Given the description of an element on the screen output the (x, y) to click on. 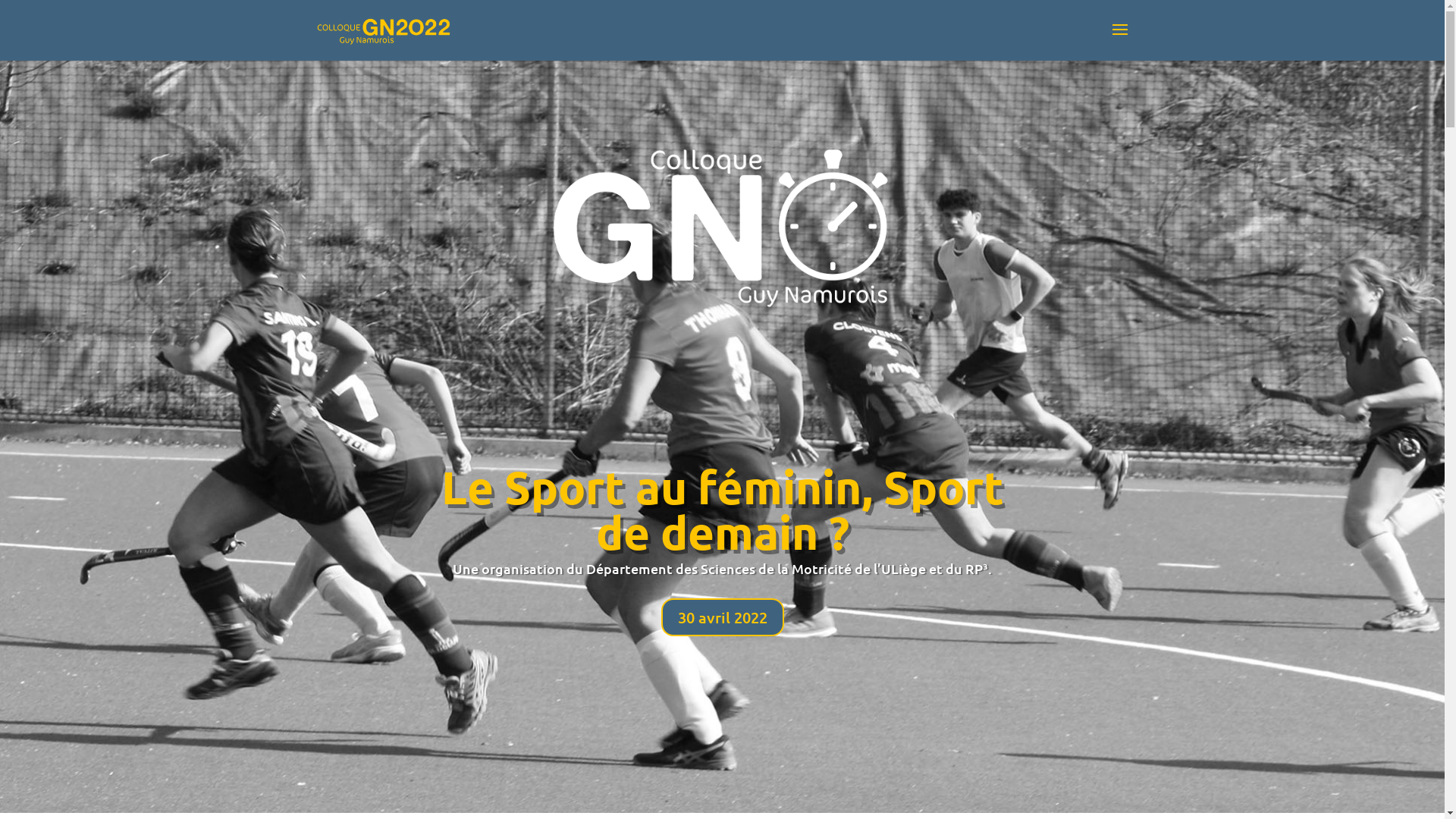
30 avril 2022 Element type: text (722, 617)
LogoGN2022_blanc Element type: hover (721, 224)
